Given the description of an element on the screen output the (x, y) to click on. 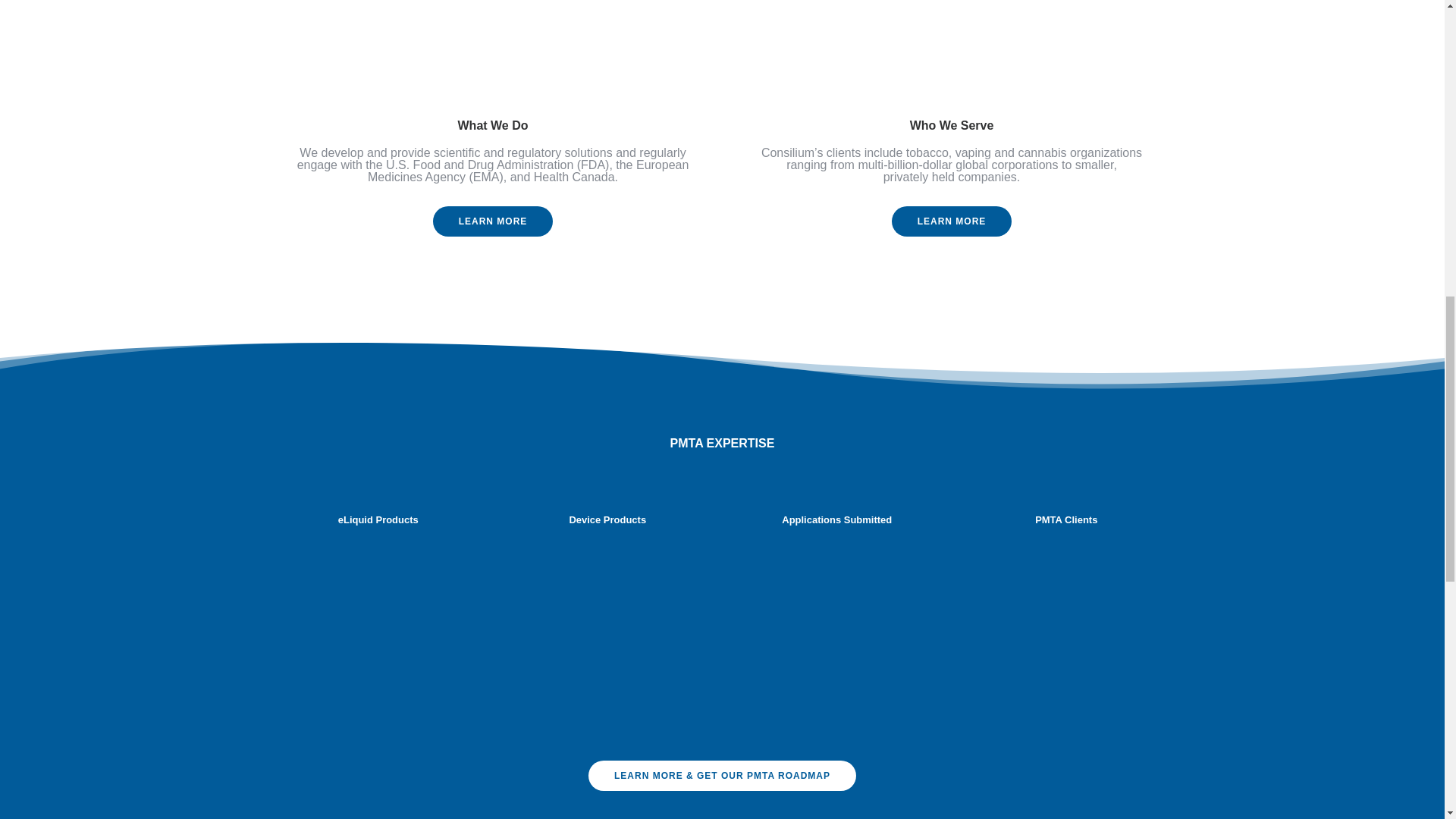
LEARN MORE (951, 221)
LEARN MORE (492, 223)
